Given the description of an element on the screen output the (x, y) to click on. 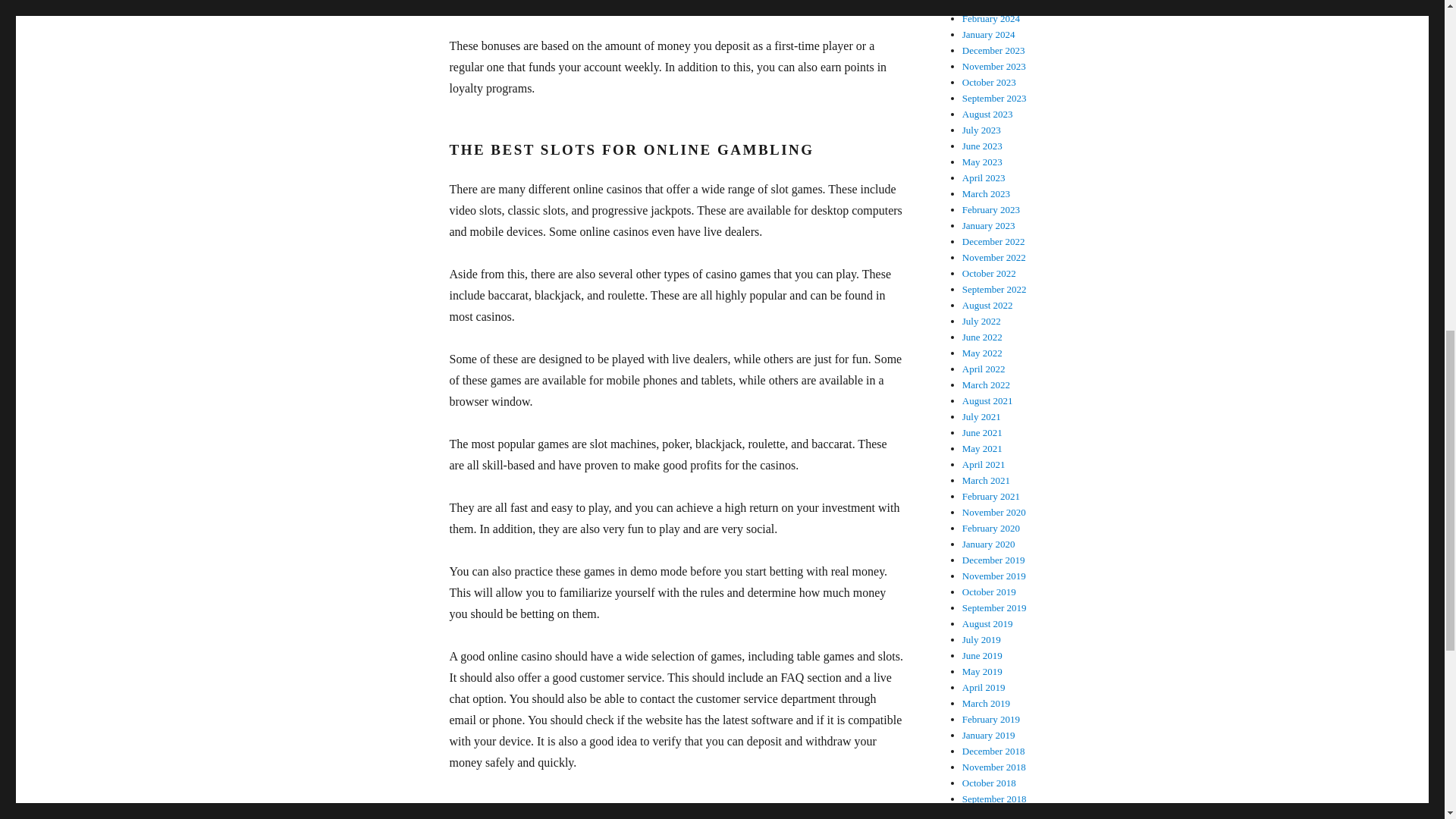
October 2023 (989, 81)
May 2023 (982, 161)
November 2023 (994, 66)
March 2024 (986, 4)
March 2023 (986, 193)
November 2022 (994, 256)
August 2023 (987, 113)
April 2023 (984, 177)
February 2023 (991, 209)
June 2023 (982, 145)
December 2022 (993, 241)
January 2023 (988, 225)
January 2024 (988, 34)
February 2024 (991, 18)
September 2023 (994, 98)
